Given the description of an element on the screen output the (x, y) to click on. 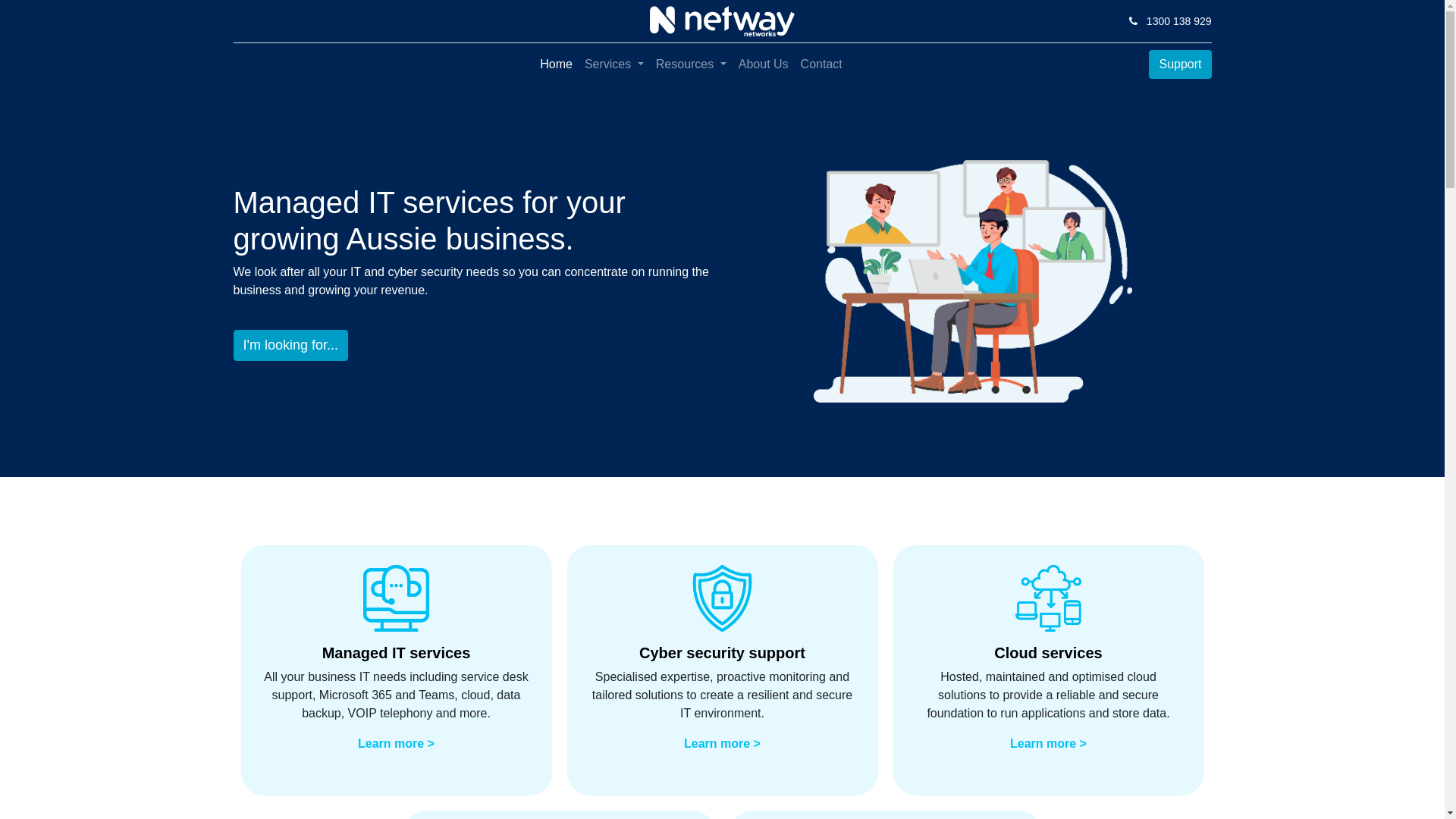
Managed IT services Element type: text (396, 652)
Cyber security support Element type: text (722, 652)
Learn more > Element type: text (722, 743)
Home Element type: text (555, 64)
Netway Networks Element type: hover (721, 21)
Services Element type: text (613, 64)
About Us Element type: text (763, 64)
Resources Element type: text (690, 64)
I'm looking for... Element type: text (290, 344)
Cloud services Element type: text (1047, 652)
Learn more > Element type: text (395, 743)
1300 138 929 Element type: text (1178, 21)
Contact Element type: text (821, 64)
Support Element type: text (1179, 64)
Learn more > Element type: text (1048, 743)
